Given the description of an element on the screen output the (x, y) to click on. 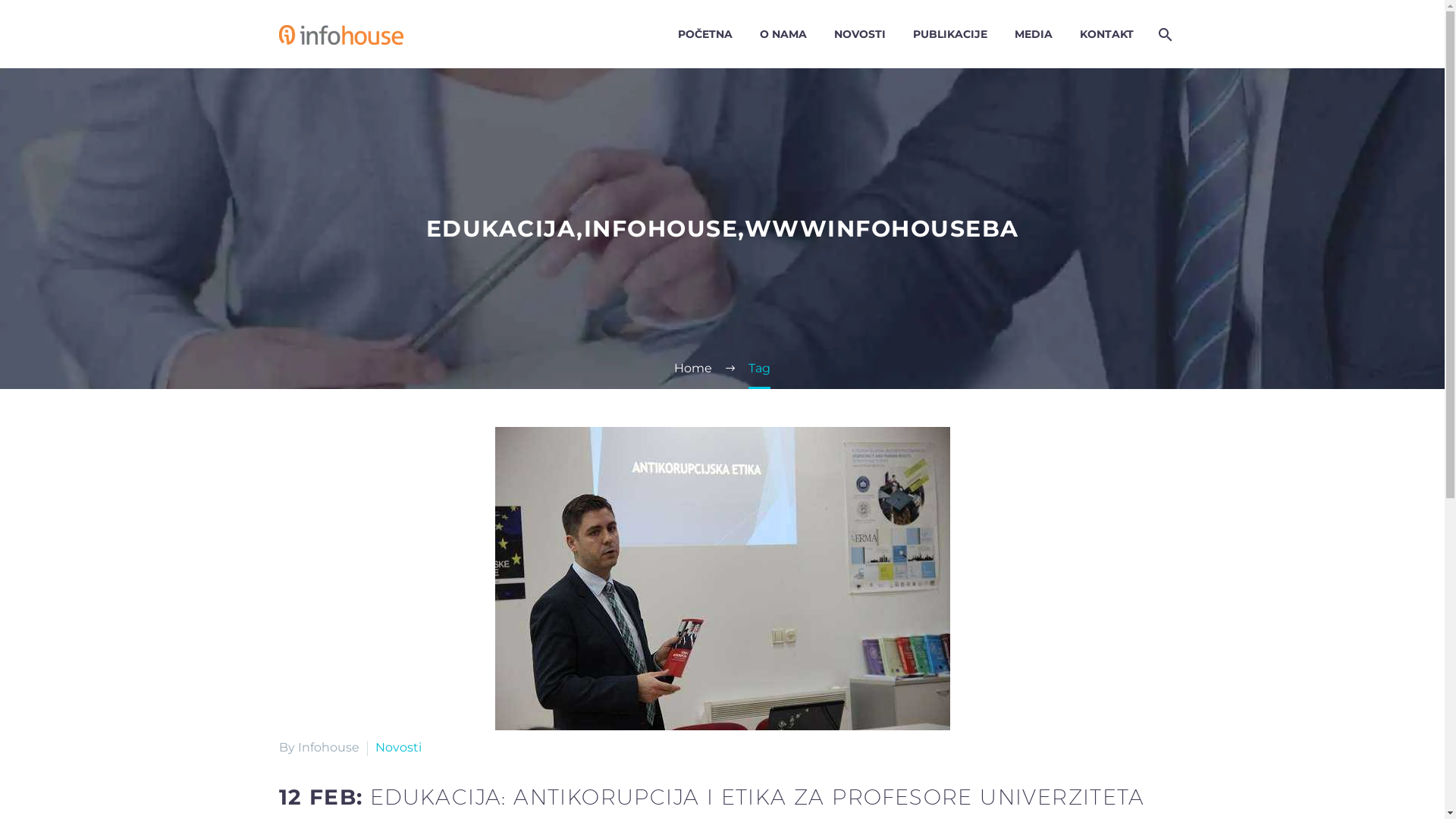
Home Element type: text (693, 367)
PUBLIKACIJE Element type: text (948, 34)
NOVOSTI Element type: text (859, 34)
MEDIA Element type: text (1032, 34)
O NAMA Element type: text (782, 34)
Novosti Element type: text (397, 747)
KONTAKT Element type: text (1105, 34)
